Given the description of an element on the screen output the (x, y) to click on. 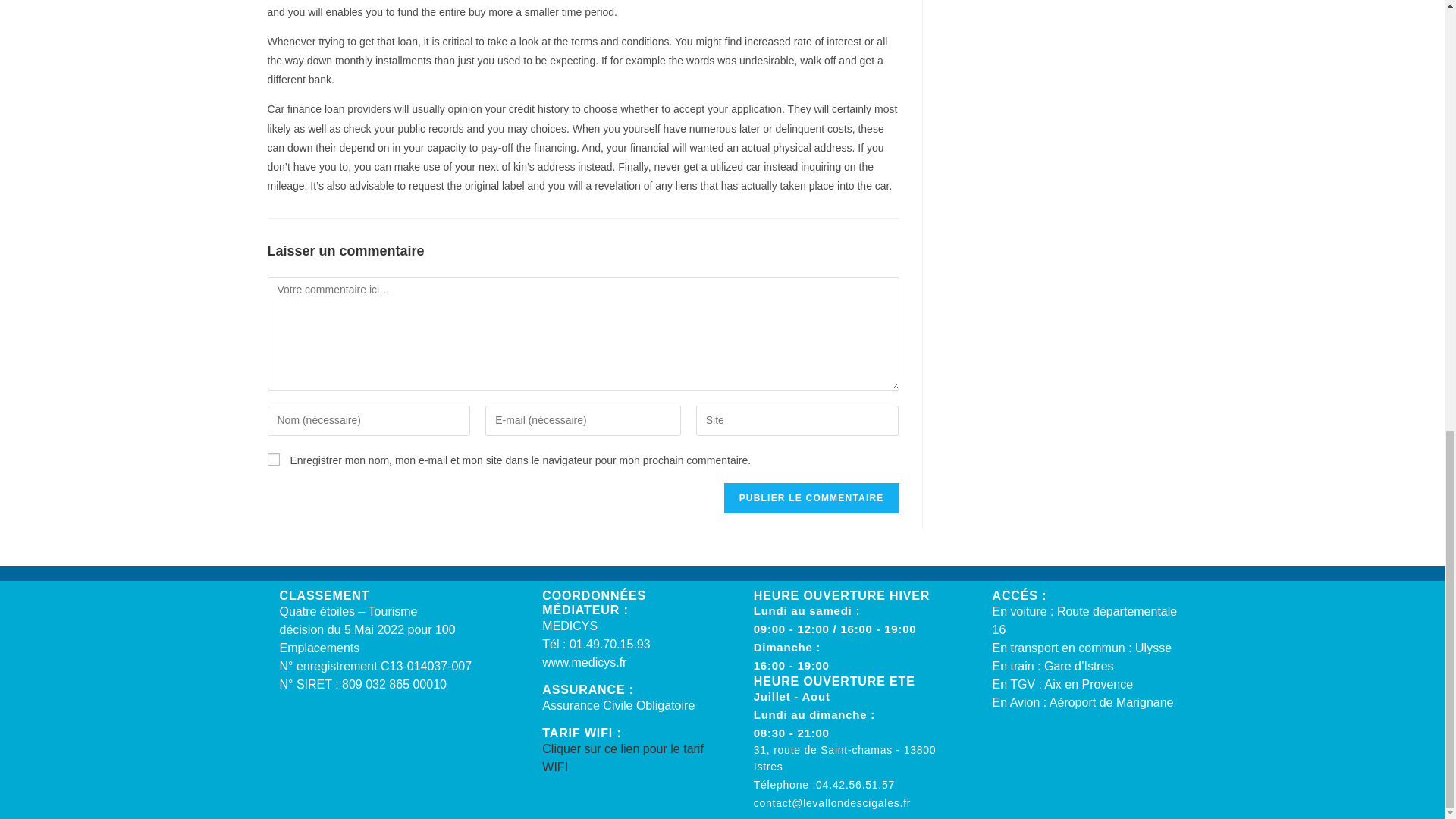
yes (272, 459)
Cliquer sur ce lien pour le tarif WIFI (622, 757)
Publier le commentaire (811, 498)
Publier le commentaire (811, 498)
